Given the description of an element on the screen output the (x, y) to click on. 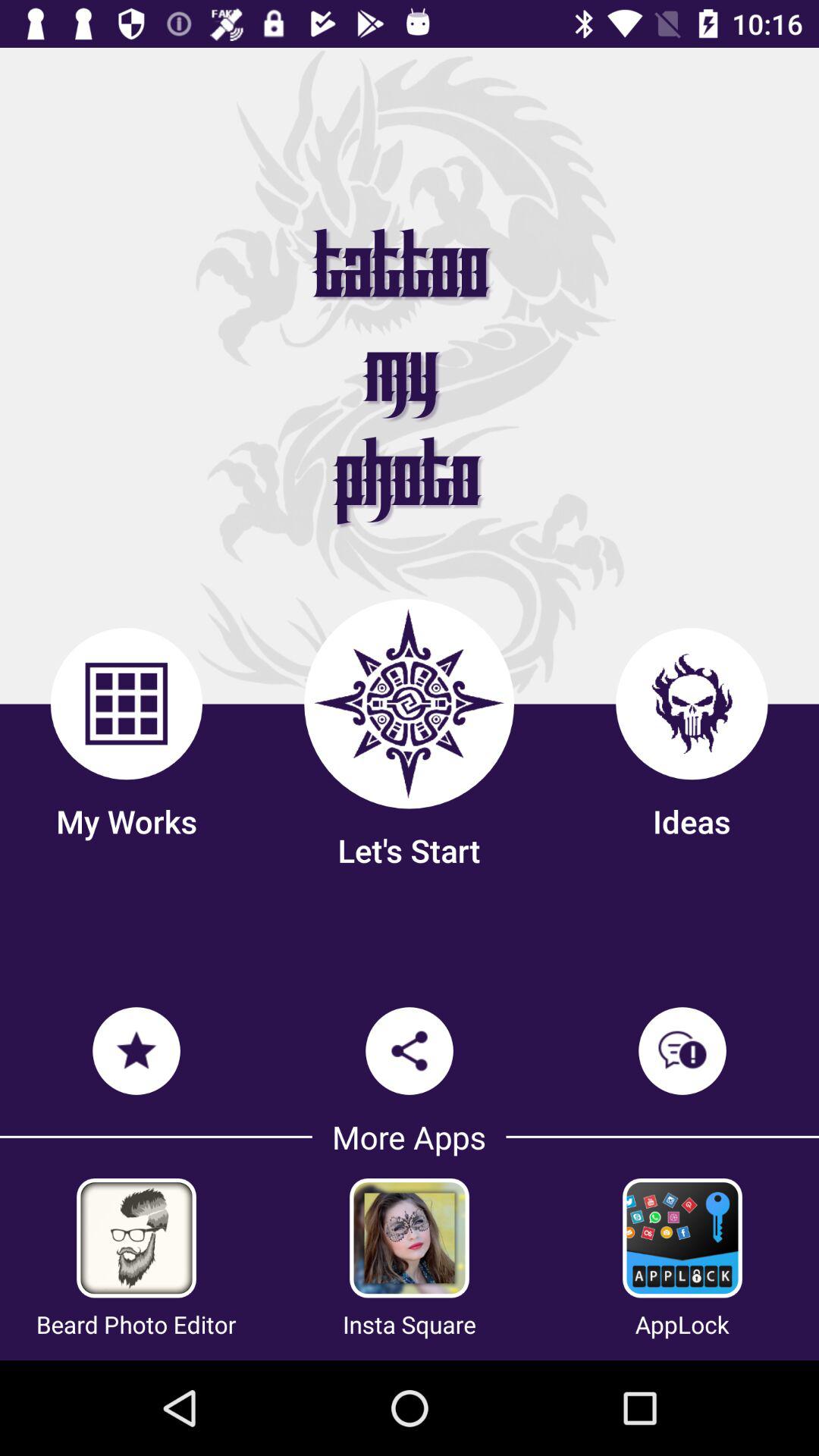
scroll until the insta square icon (409, 1324)
